Given the description of an element on the screen output the (x, y) to click on. 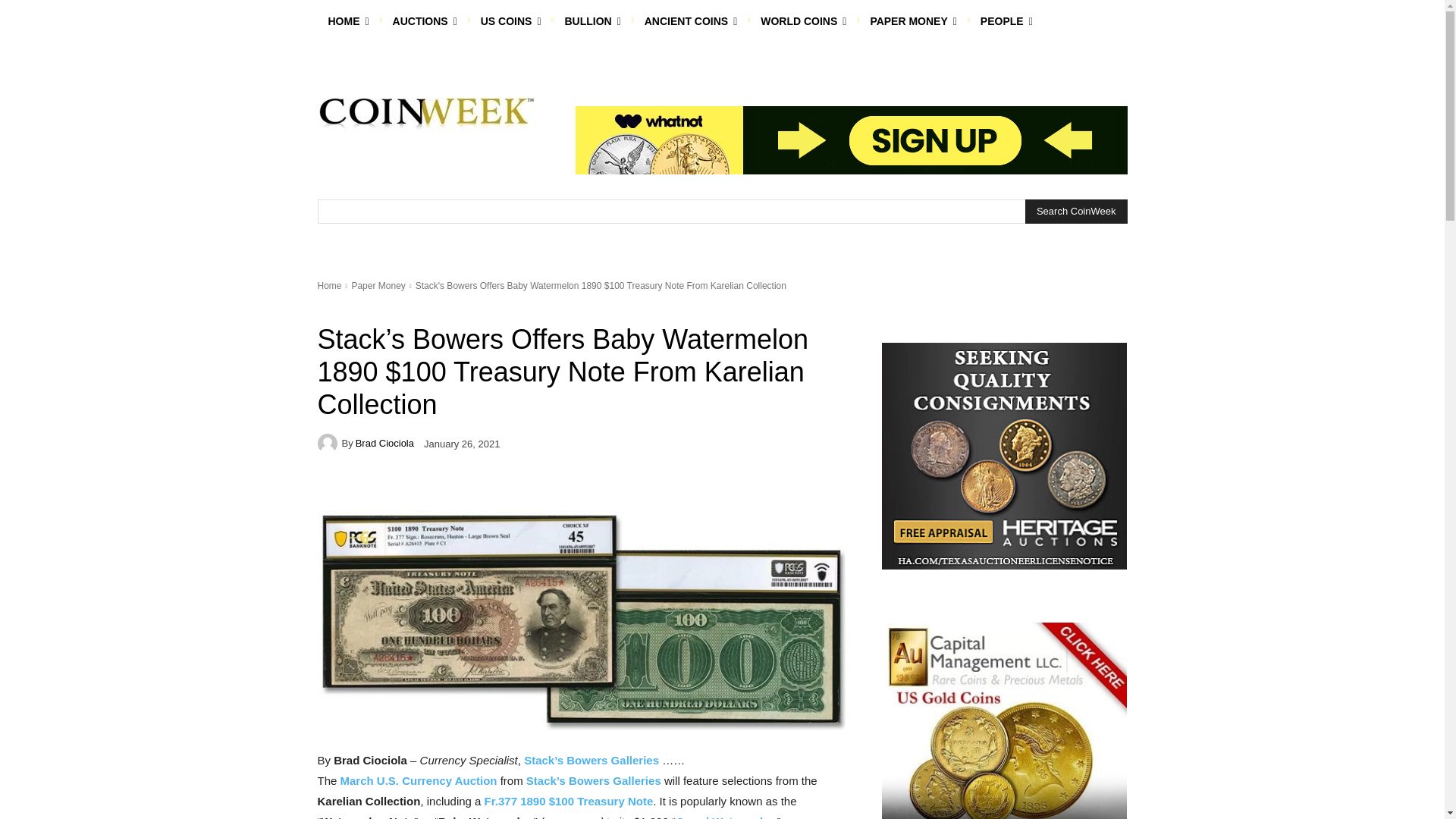
HOME (347, 21)
Brad Ciociola (328, 443)
View all posts in Paper Money (377, 285)
AUCTIONS (424, 21)
